Given the description of an element on the screen output the (x, y) to click on. 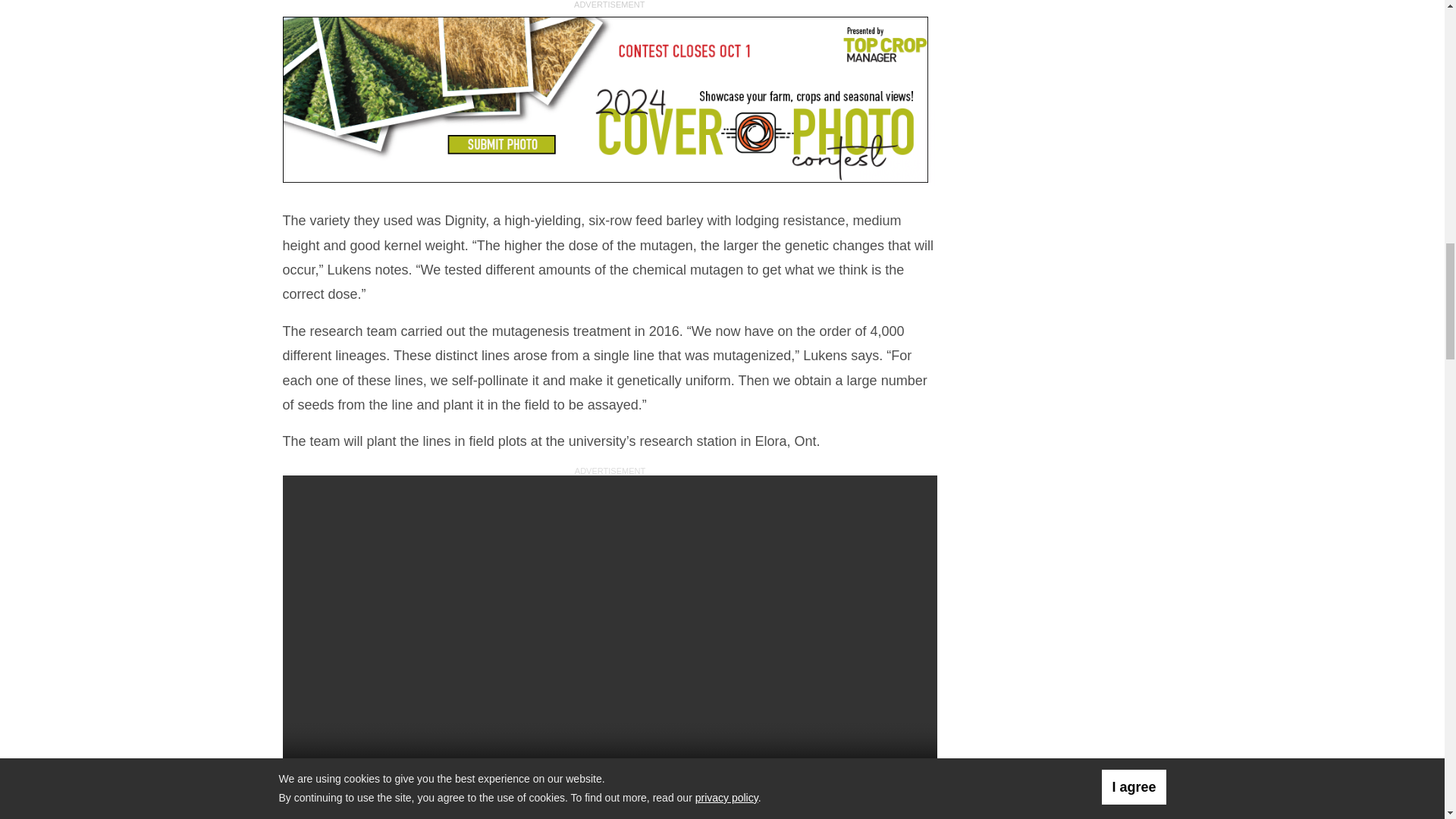
3rd party ad content (608, 100)
